Given the description of an element on the screen output the (x, y) to click on. 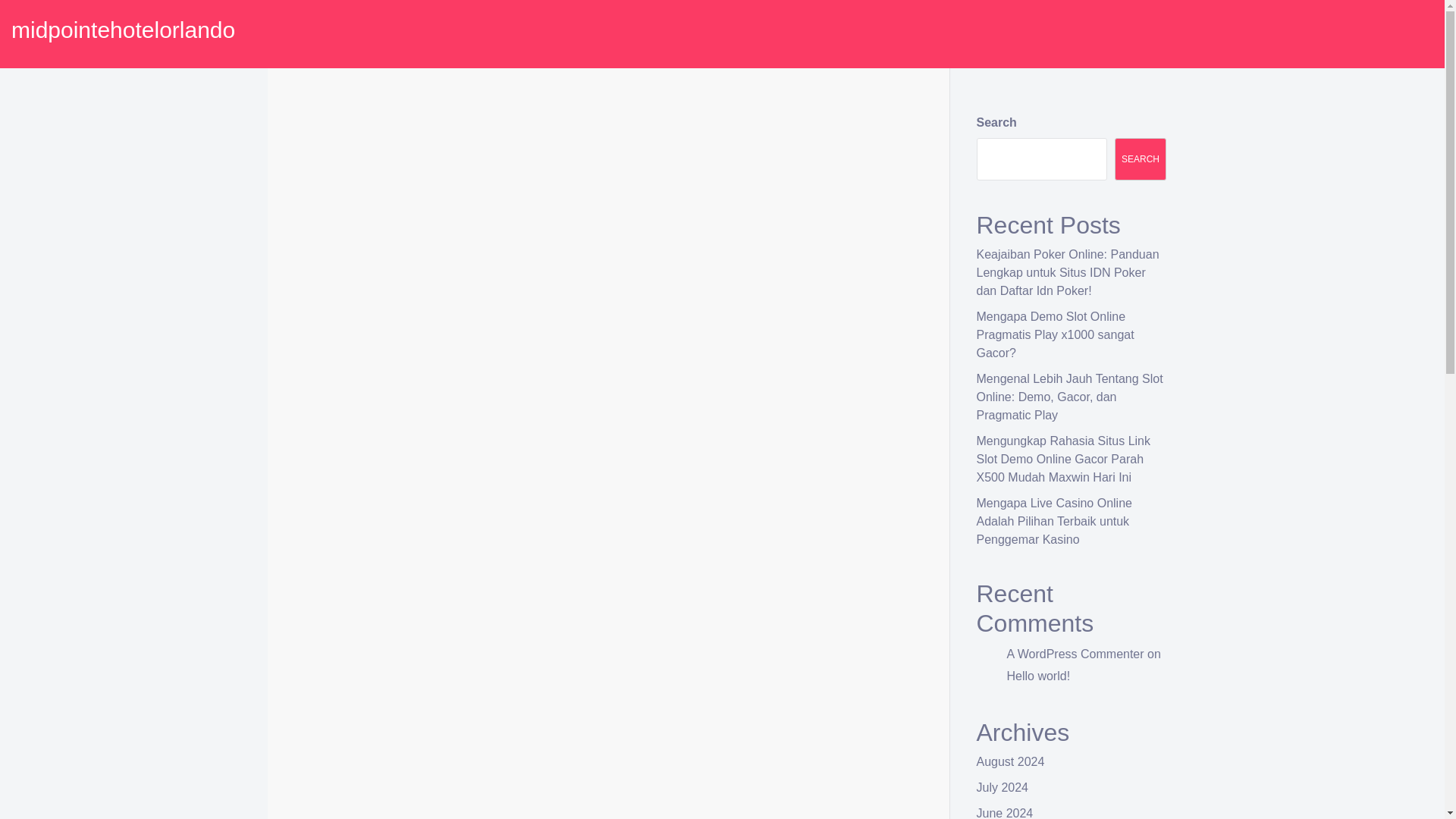
July 2024 (1002, 787)
August 2024 (1010, 761)
Mengapa Demo Slot Online Pragmatis Play x1000 sangat Gacor? (1055, 334)
A WordPress Commenter (1075, 653)
midpointehotelorlando (122, 29)
Hello world! (1038, 675)
October 10, 2022 (349, 143)
